Given the description of an element on the screen output the (x, y) to click on. 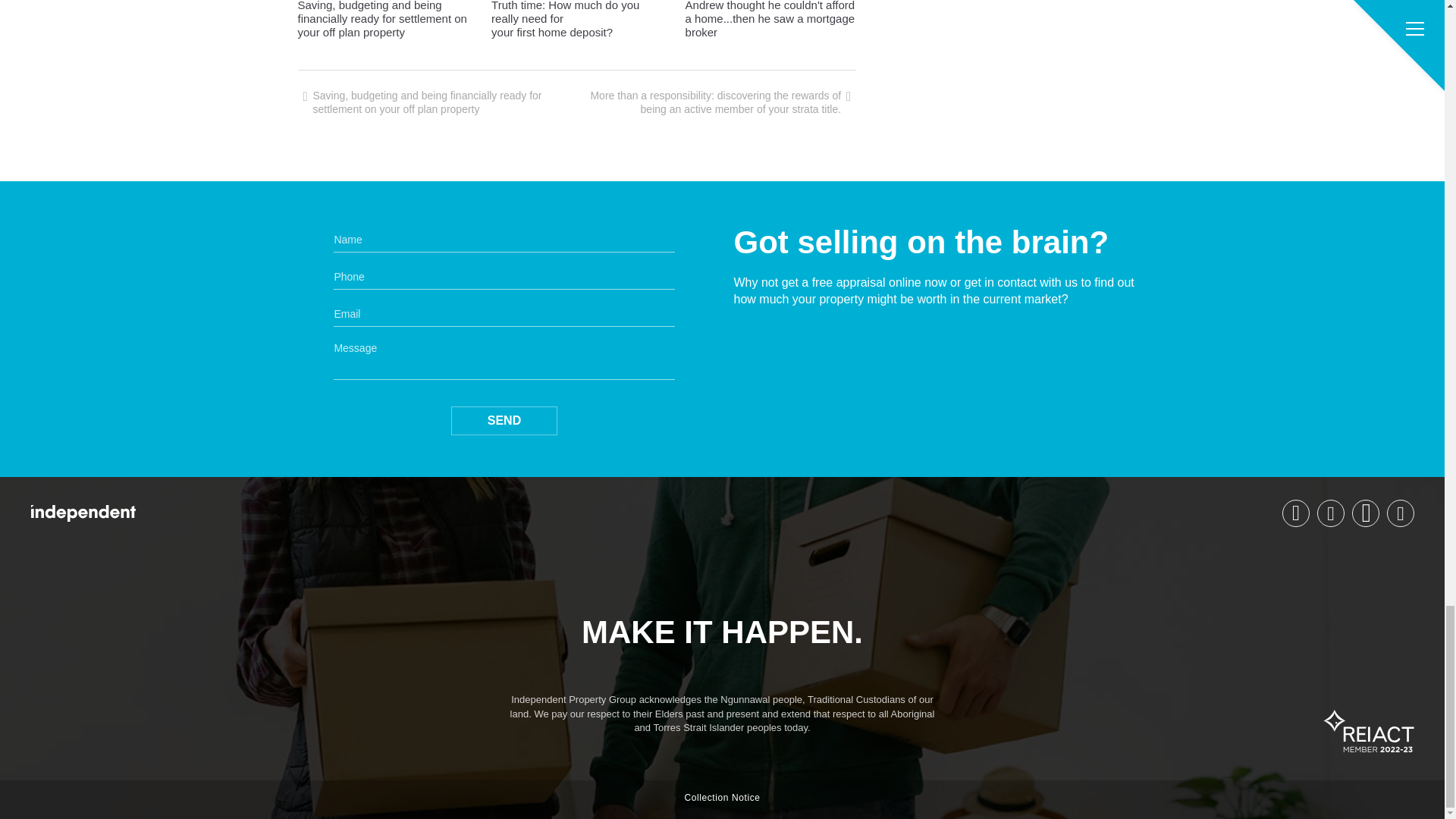
SEND (504, 420)
